Given the description of an element on the screen output the (x, y) to click on. 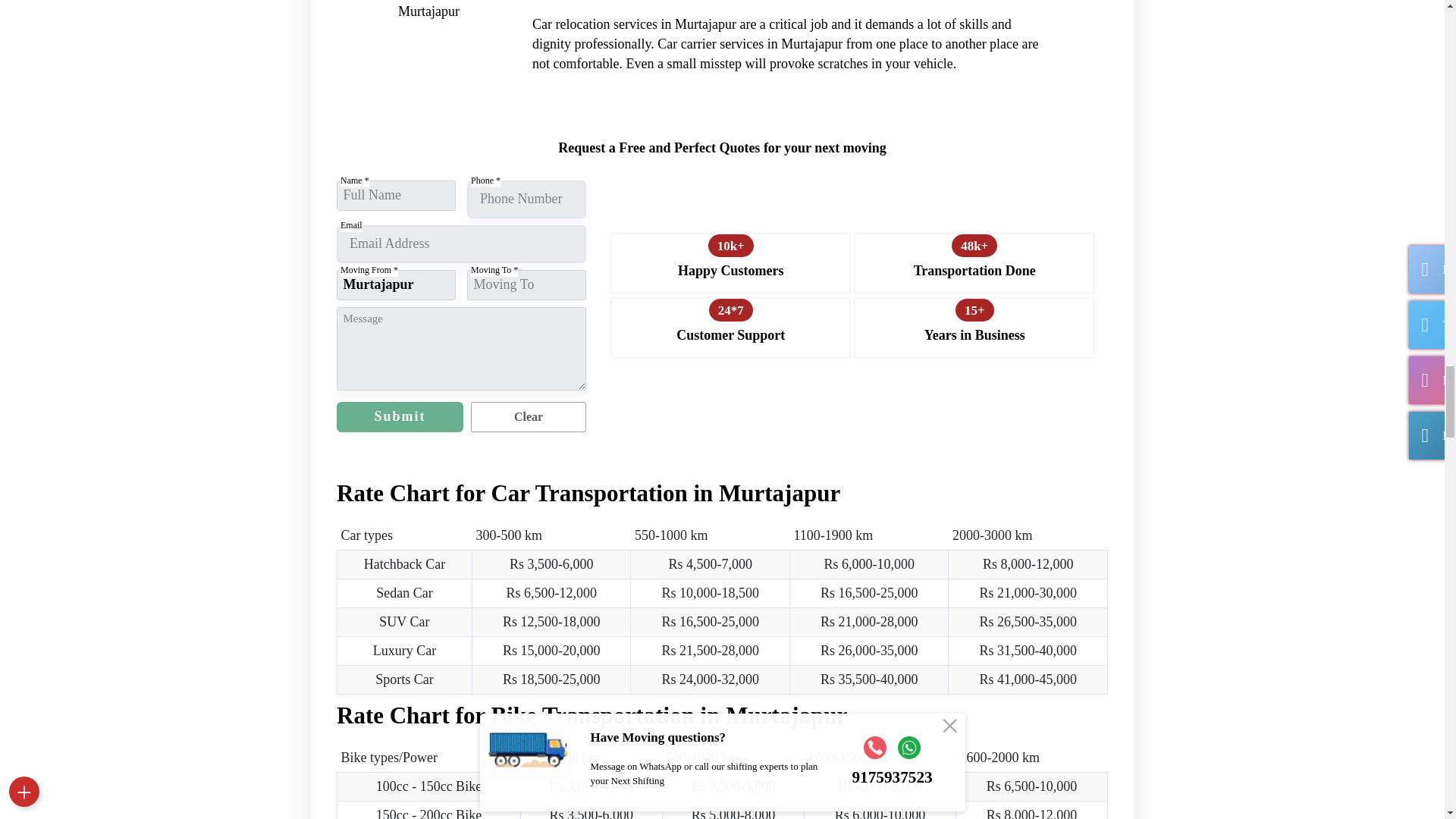
Murtajapur (395, 285)
Submit (399, 417)
Clear (528, 417)
